Given the description of an element on the screen output the (x, y) to click on. 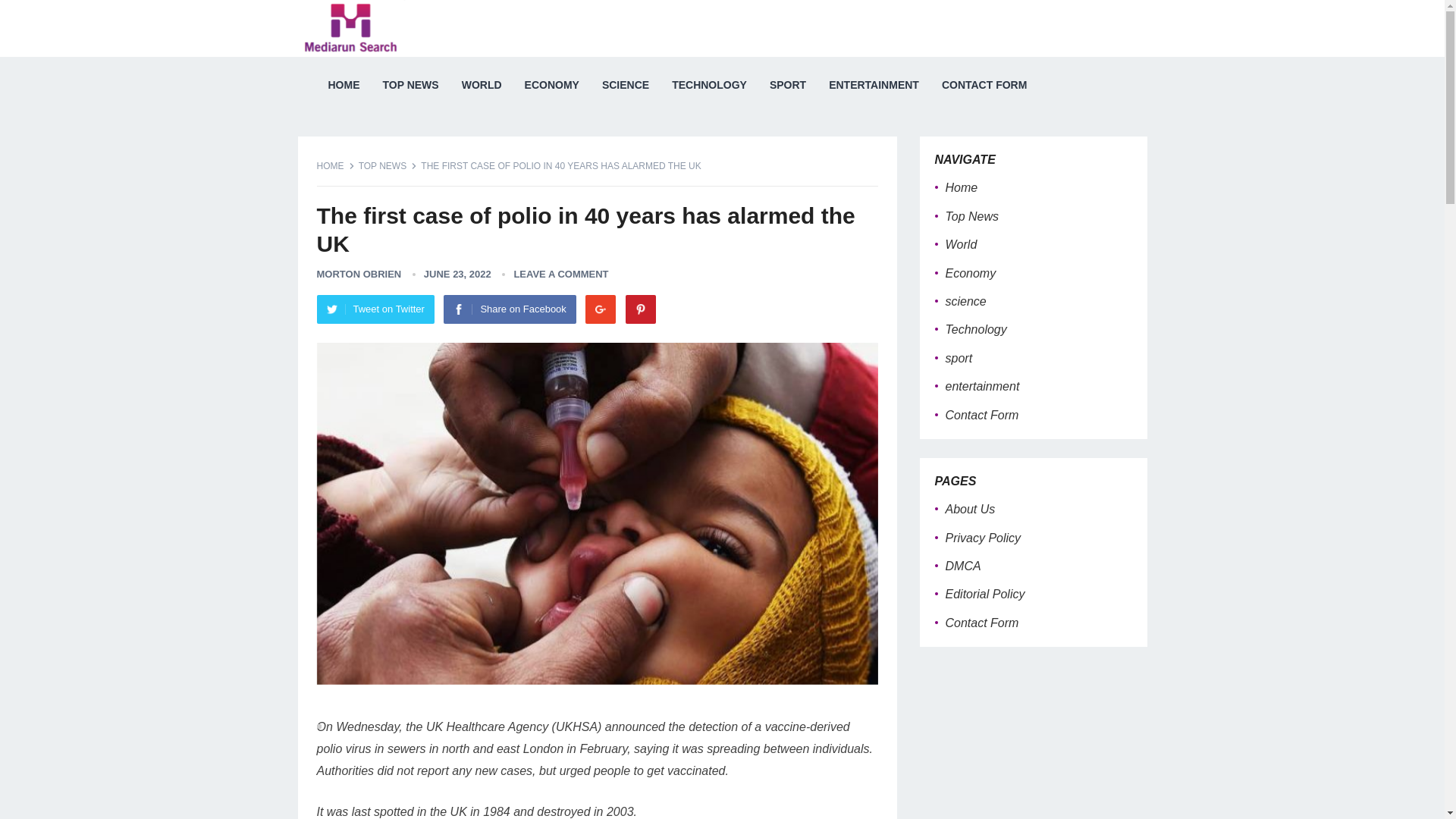
LEAVE A COMMENT (560, 274)
Tweet on Twitter (375, 308)
CONTACT FORM (984, 84)
HOME (344, 84)
ECONOMY (552, 84)
HOME (336, 165)
TOP NEWS (387, 165)
TECHNOLOGY (709, 84)
SCIENCE (626, 84)
SPORT (787, 84)
Share on Facebook (509, 308)
WORLD (481, 84)
ENTERTAINMENT (873, 84)
MORTON OBRIEN (359, 274)
